Given the description of an element on the screen output the (x, y) to click on. 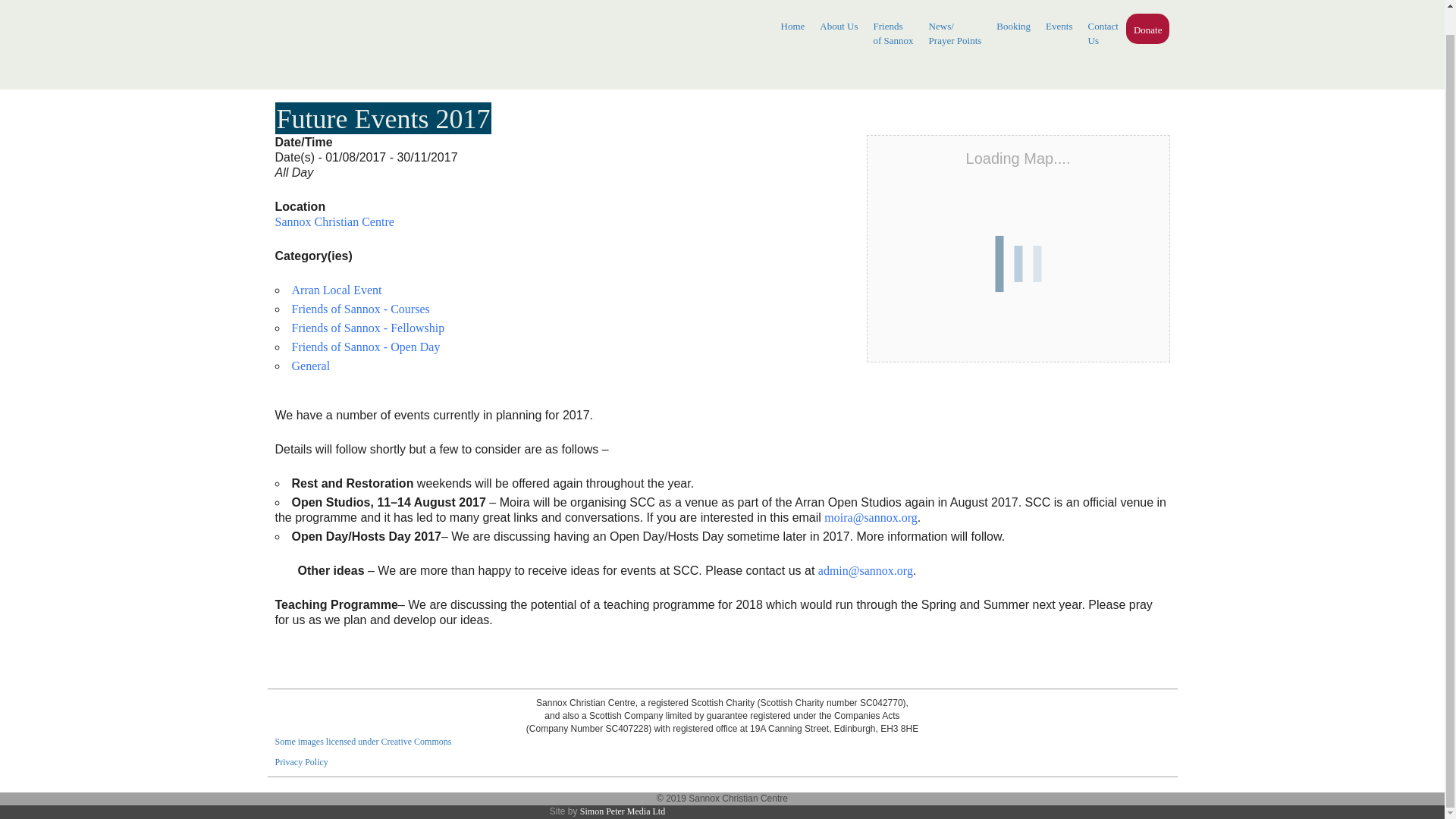
Donate (1147, 30)
About Us (838, 26)
Booking (1013, 26)
Events (1102, 33)
Home (1059, 26)
